Given the description of an element on the screen output the (x, y) to click on. 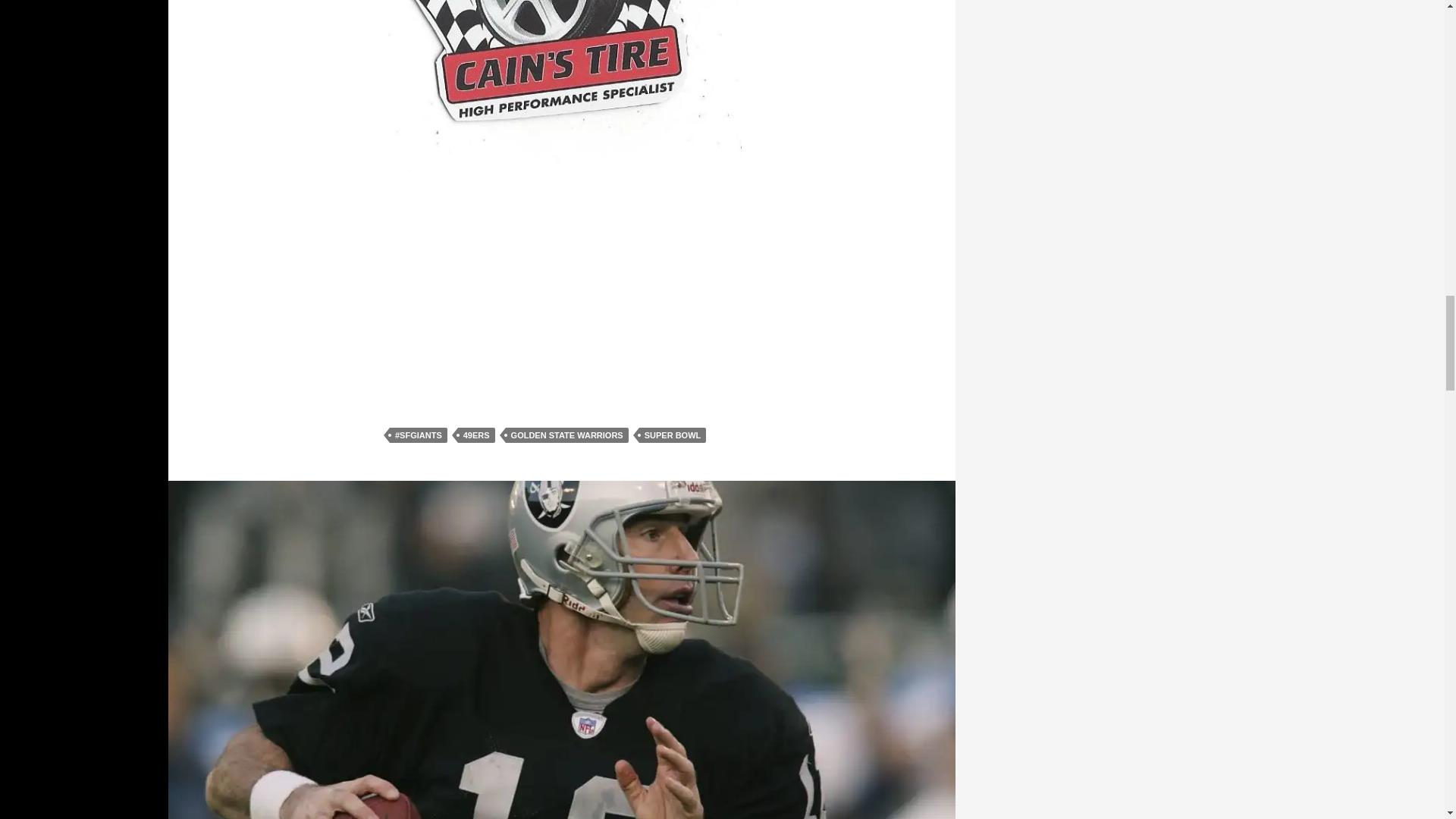
GOLDEN STATE WARRIORS (566, 435)
49ERS (476, 435)
SUPER BOWL (672, 435)
